Given the description of an element on the screen output the (x, y) to click on. 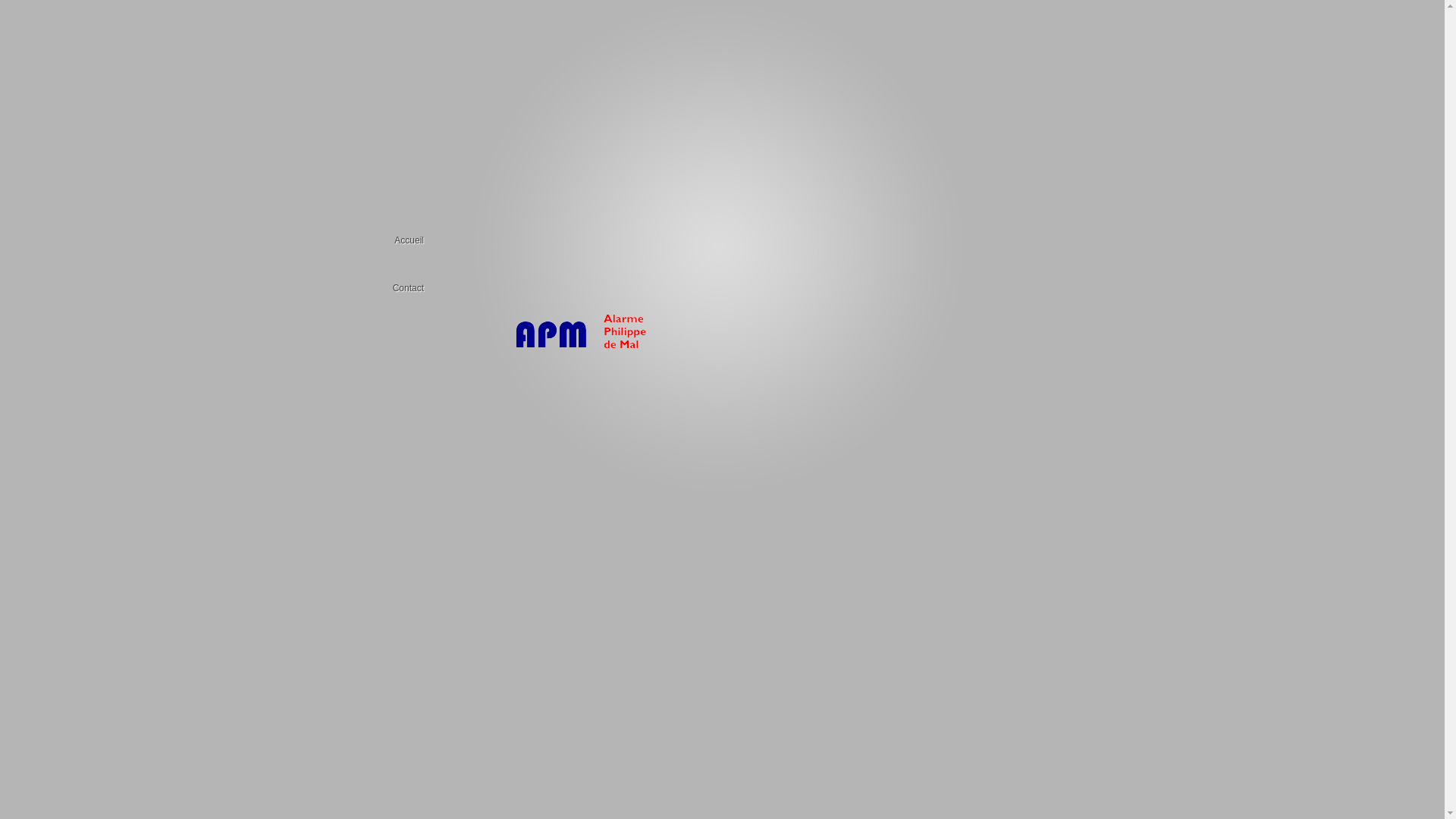
Contact Element type: text (411, 288)
Accueil Element type: text (412, 240)
